Given the description of an element on the screen output the (x, y) to click on. 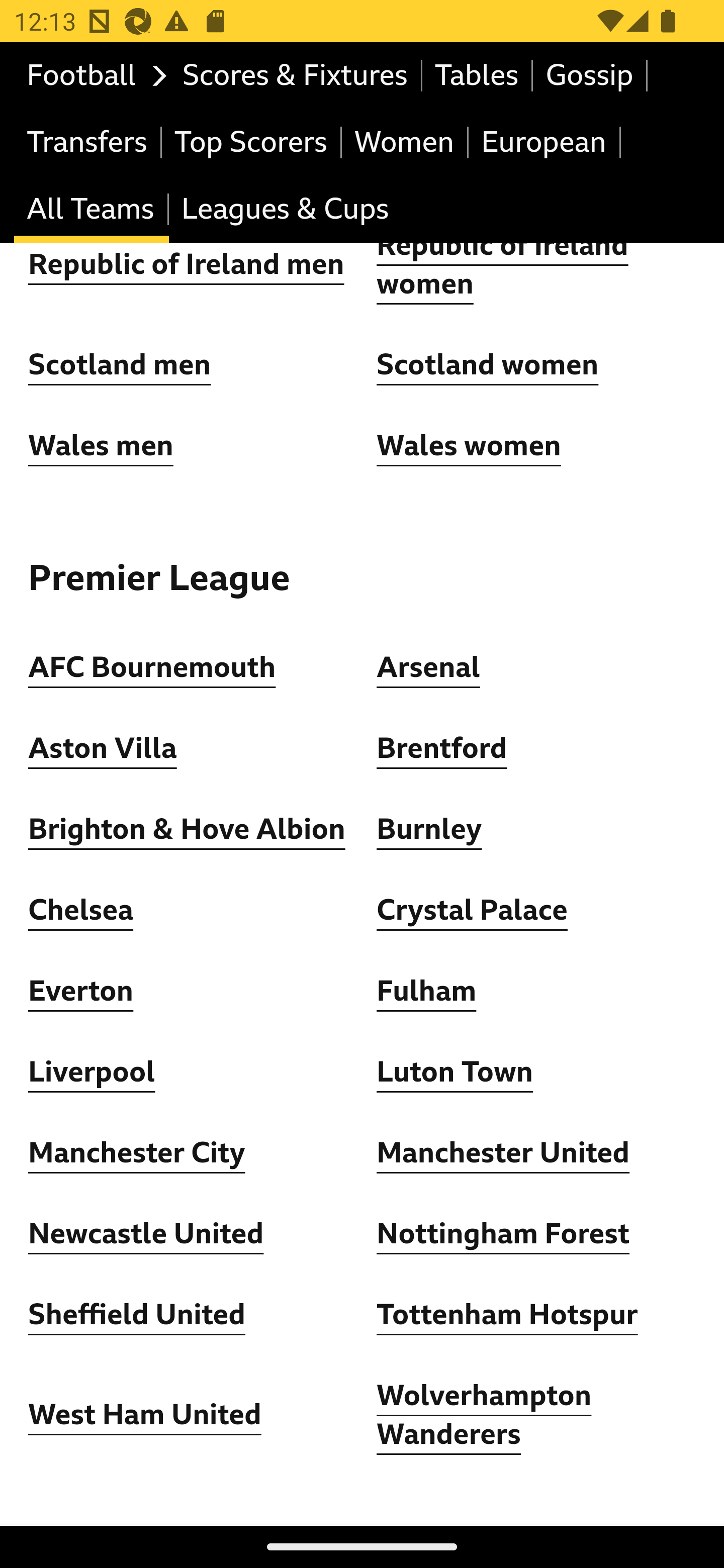
Republic of Ireland women (502, 265)
Republic of Ireland men (186, 264)
Scotland men (120, 366)
Scotland women (487, 366)
Wales men (100, 446)
Wales women (468, 446)
AFC Bournemouth (151, 668)
Arsenal (428, 668)
Aston Villa (102, 749)
Brentford (442, 749)
Brighton & Hove Albion (187, 830)
Burnley (429, 830)
Chelsea (80, 910)
Crystal Palace (472, 910)
Everton (80, 991)
Fulham (426, 991)
Liverpool (92, 1073)
Luton Town (455, 1073)
Manchester City (137, 1153)
Manchester United (503, 1153)
Newcastle United (146, 1234)
Nottingham Forest (503, 1234)
Sheffield United (137, 1315)
Tottenham Hotspur (507, 1315)
Wolverhampton Wanderers (484, 1415)
West Ham United (145, 1415)
